Given the description of an element on the screen output the (x, y) to click on. 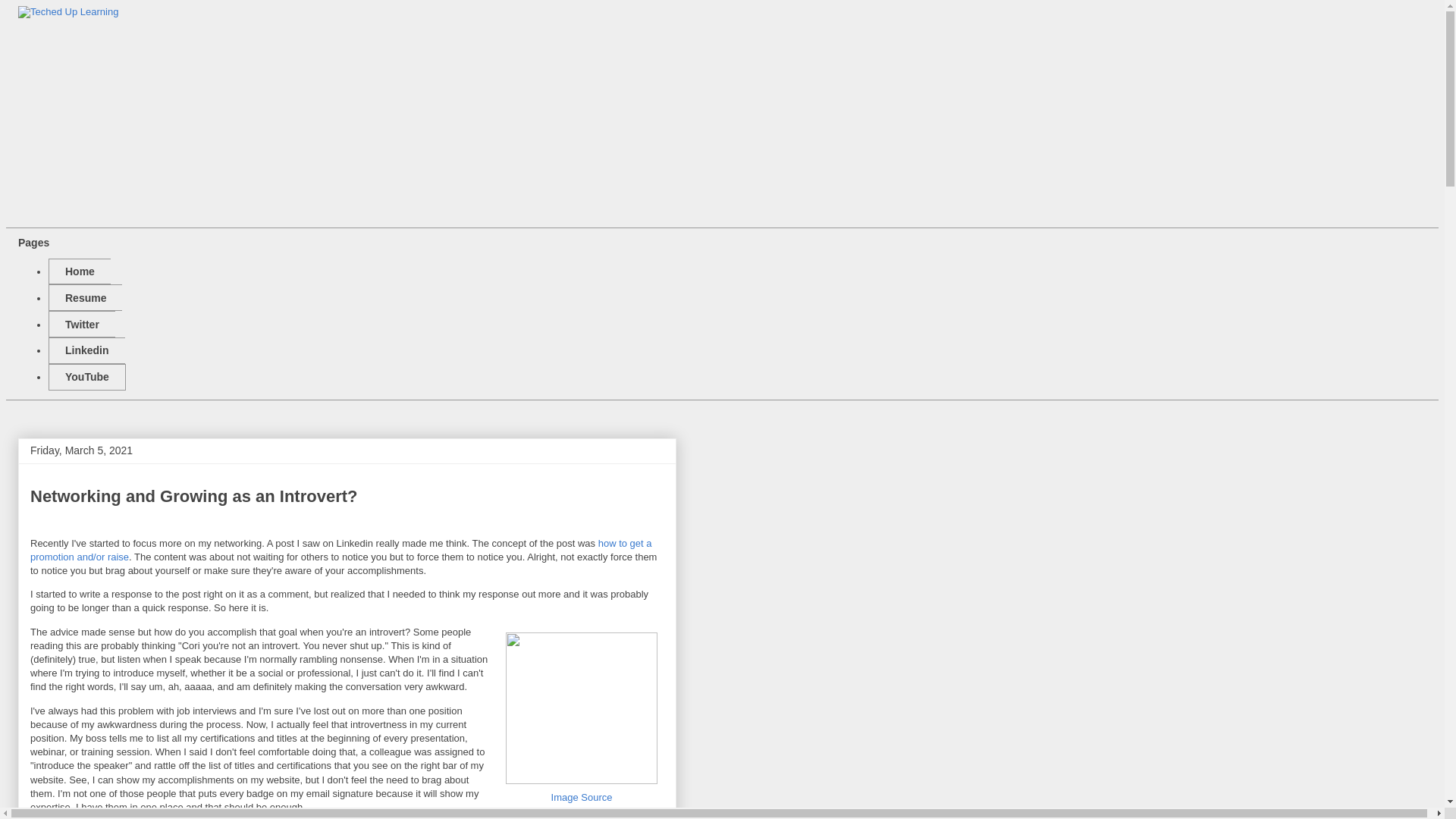
Home (79, 271)
Networking and Growing as an Introvert? (581, 803)
Resume (194, 496)
YouTube (85, 297)
Linkedin (86, 376)
Twitter (86, 350)
